Given the description of an element on the screen output the (x, y) to click on. 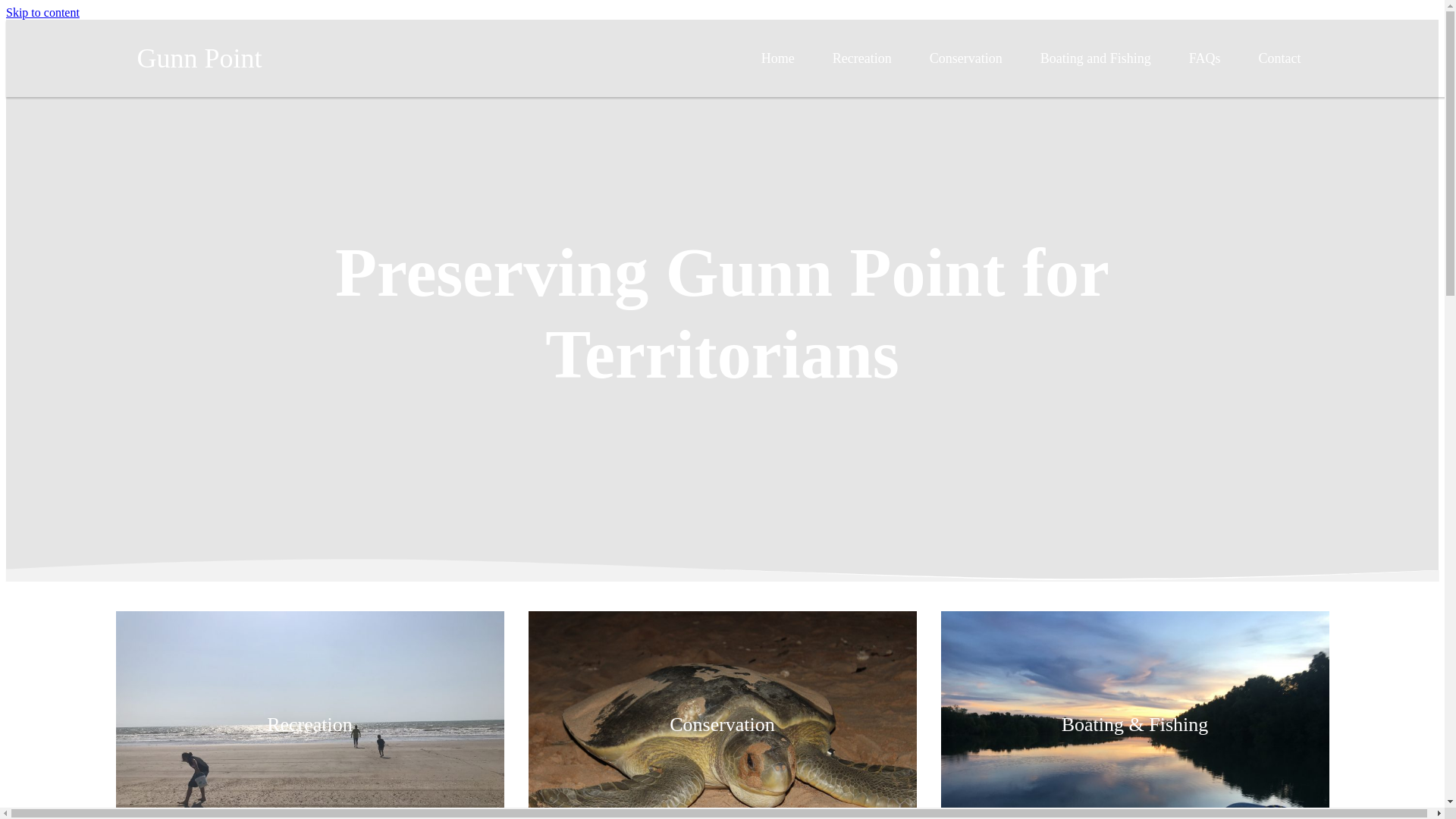
Recreation Element type: text (861, 58)
Home Element type: text (777, 58)
Contact Element type: text (1279, 58)
Skip to content Element type: text (42, 12)
Conservation Element type: text (965, 58)
FAQs Element type: text (1204, 58)
Gunn Point Element type: text (198, 58)
Boating and Fishing Element type: text (1095, 58)
